Given the description of an element on the screen output the (x, y) to click on. 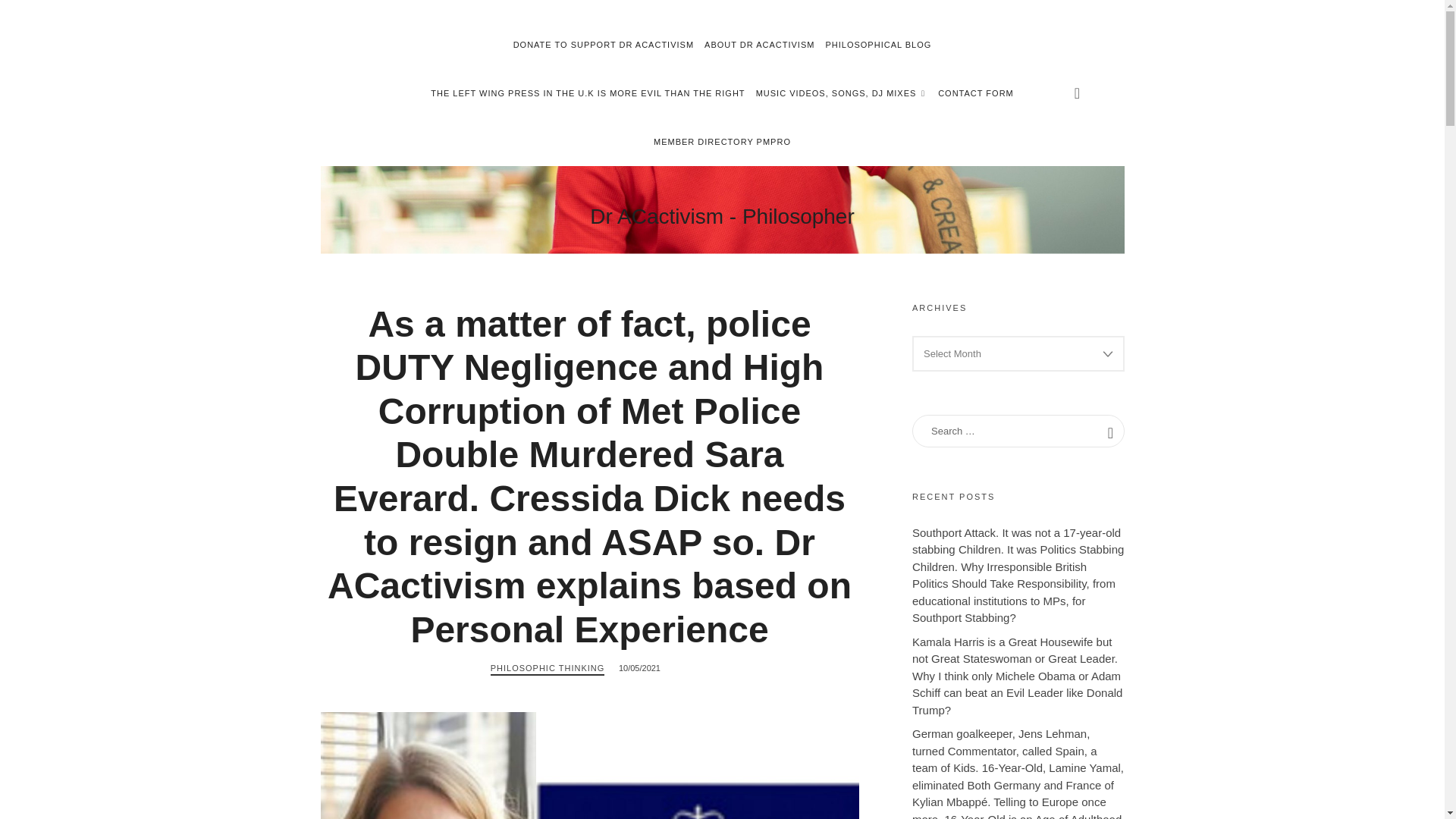
ABOUT DR ACACTIVISM (758, 44)
CONTACT FORM (975, 92)
THE LEFT WING PRESS IN THE U.K IS MORE EVIL THAN THE RIGHT (721, 215)
MEMBER DIRECTORY PMPRO (587, 92)
PHILOSOPHICAL BLOG (721, 141)
PHILOSOPHIC THINKING (878, 44)
DONATE TO SUPPORT DR ACACTIVISM (547, 668)
MUSIC VIDEOS, SONGS, DJ MIXES (603, 44)
